Given the description of an element on the screen output the (x, y) to click on. 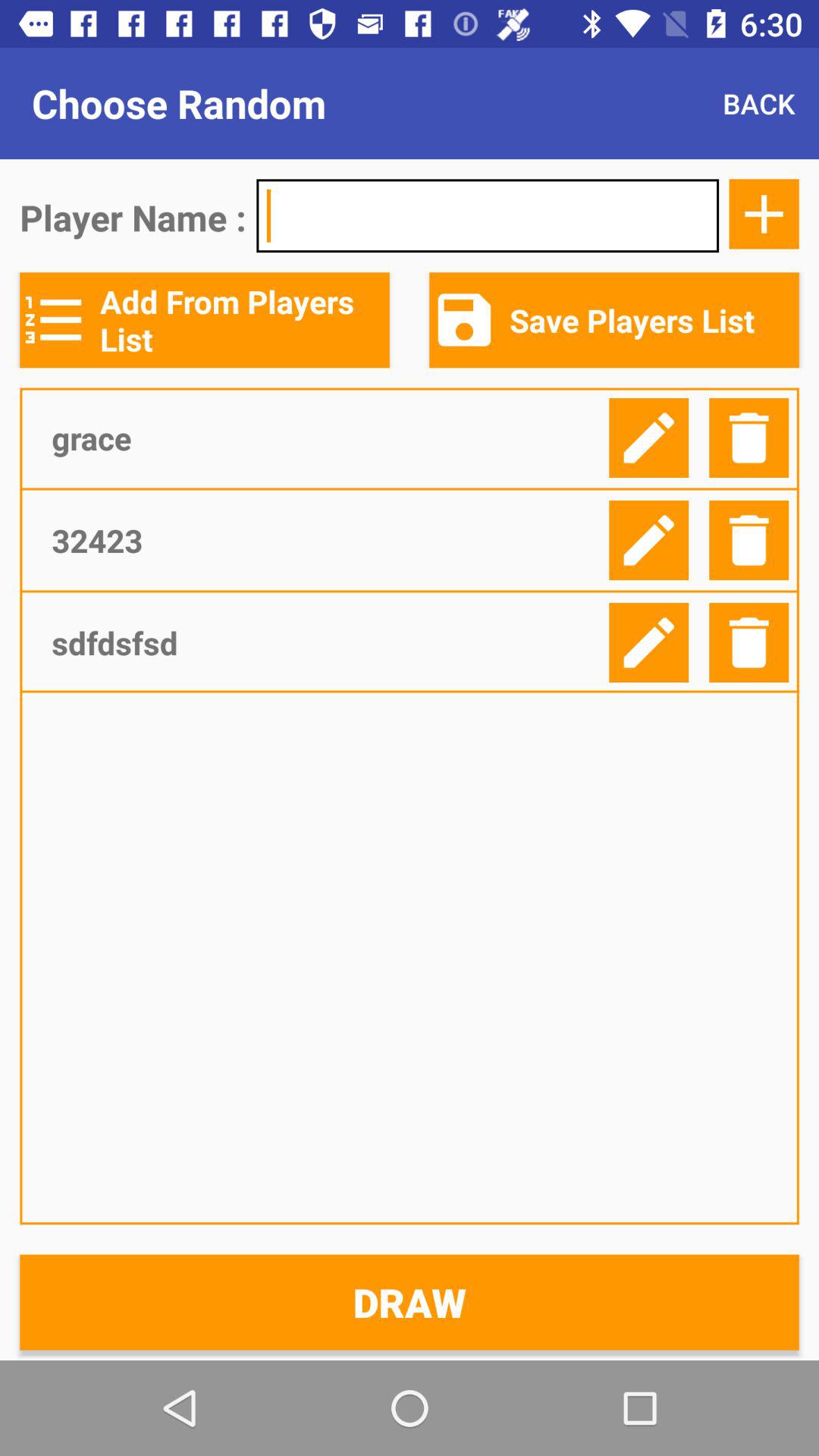
delete player (748, 642)
